Given the description of an element on the screen output the (x, y) to click on. 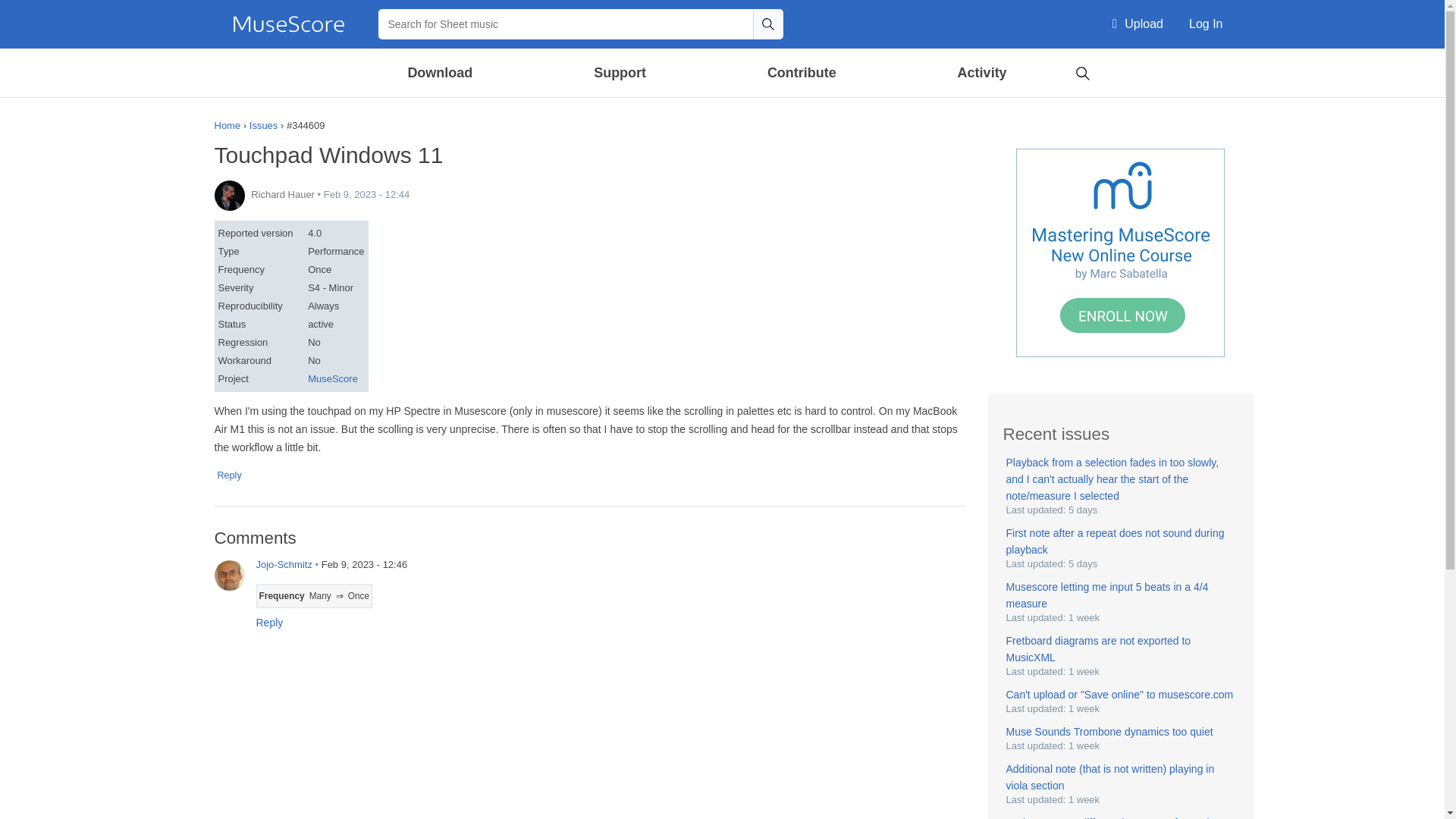
Log In (1205, 24)
Upload (1137, 24)
Search (767, 24)
Contribute (801, 72)
Download (440, 72)
Search (767, 24)
Activity (981, 72)
MuseScore (287, 23)
Richard Hauer (229, 195)
Home (287, 23)
Support (619, 72)
Search (1082, 71)
Jojo-Schmitz (229, 575)
